Given the description of an element on the screen output the (x, y) to click on. 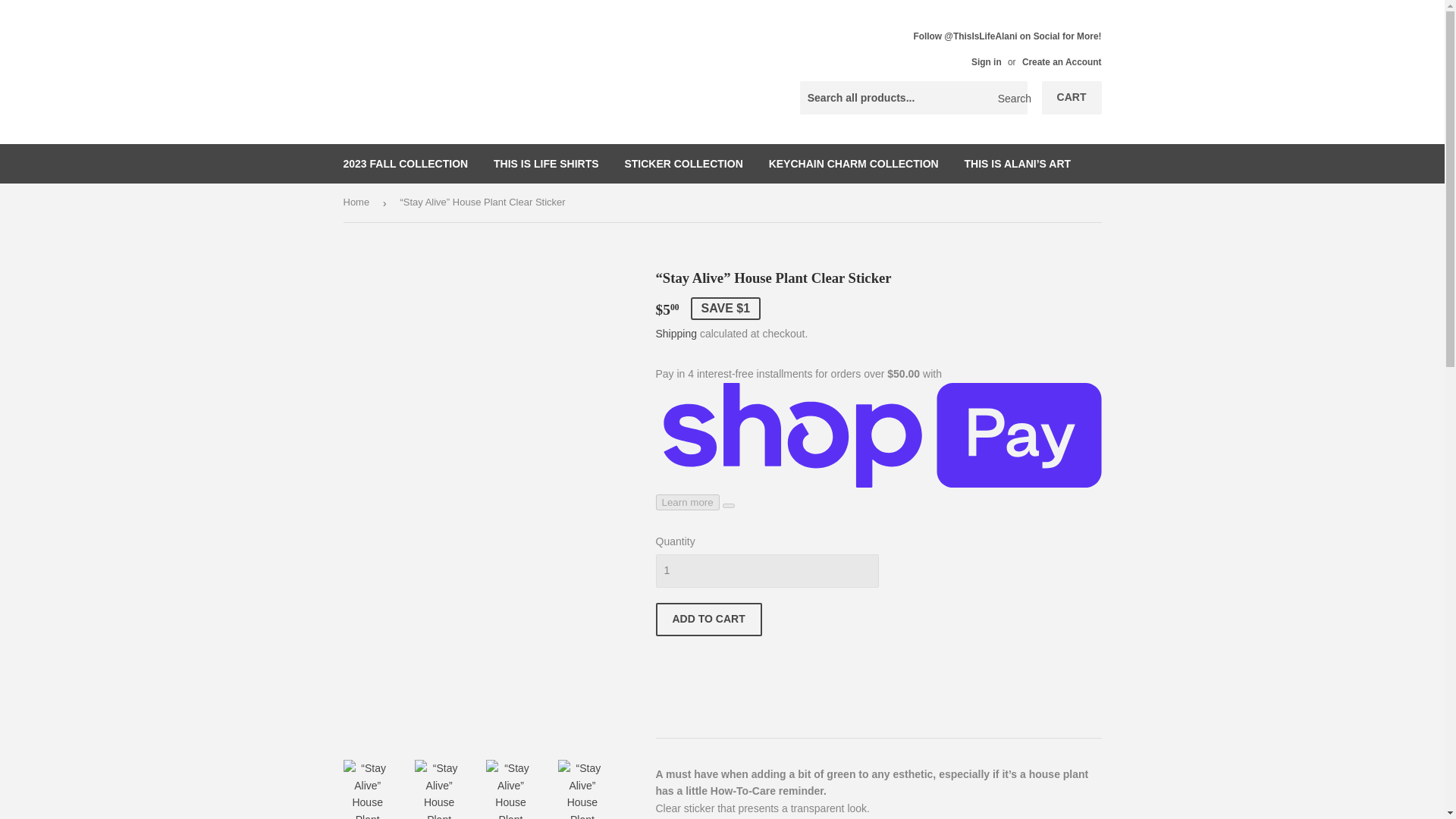
2023 FALL COLLECTION (405, 163)
1 (766, 571)
Sign in (986, 61)
STICKER COLLECTION (683, 163)
CART (1072, 97)
THIS IS LIFE SHIRTS (545, 163)
Create an Account (1062, 61)
ADD TO CART (708, 619)
KEYCHAIN CHARM COLLECTION (853, 163)
Search (1009, 98)
